Given the description of an element on the screen output the (x, y) to click on. 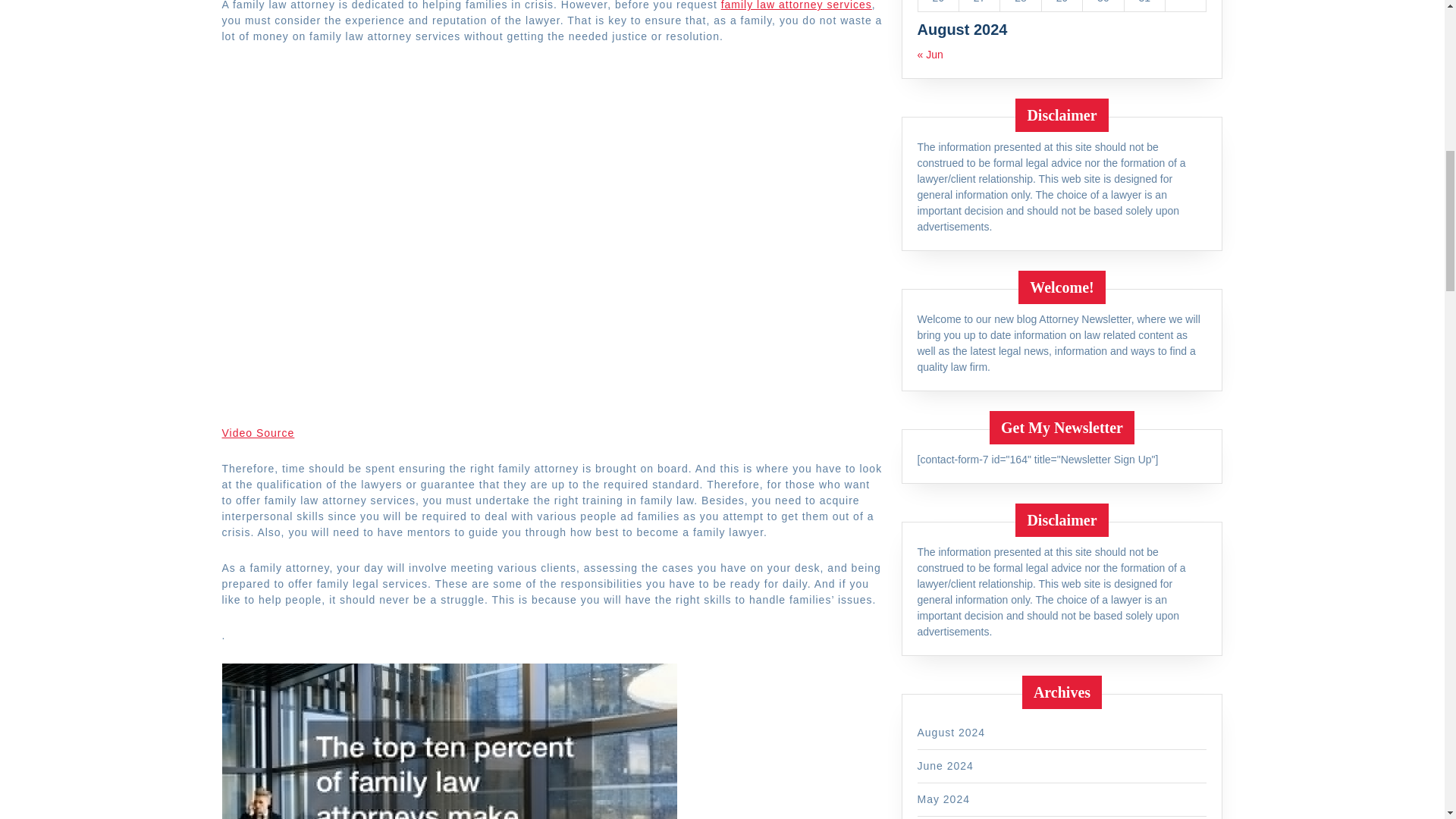
family law attorney services (796, 5)
June 2024 (945, 766)
August 2024 (951, 732)
May 2024 (943, 799)
Video Source (257, 432)
